Given the description of an element on the screen output the (x, y) to click on. 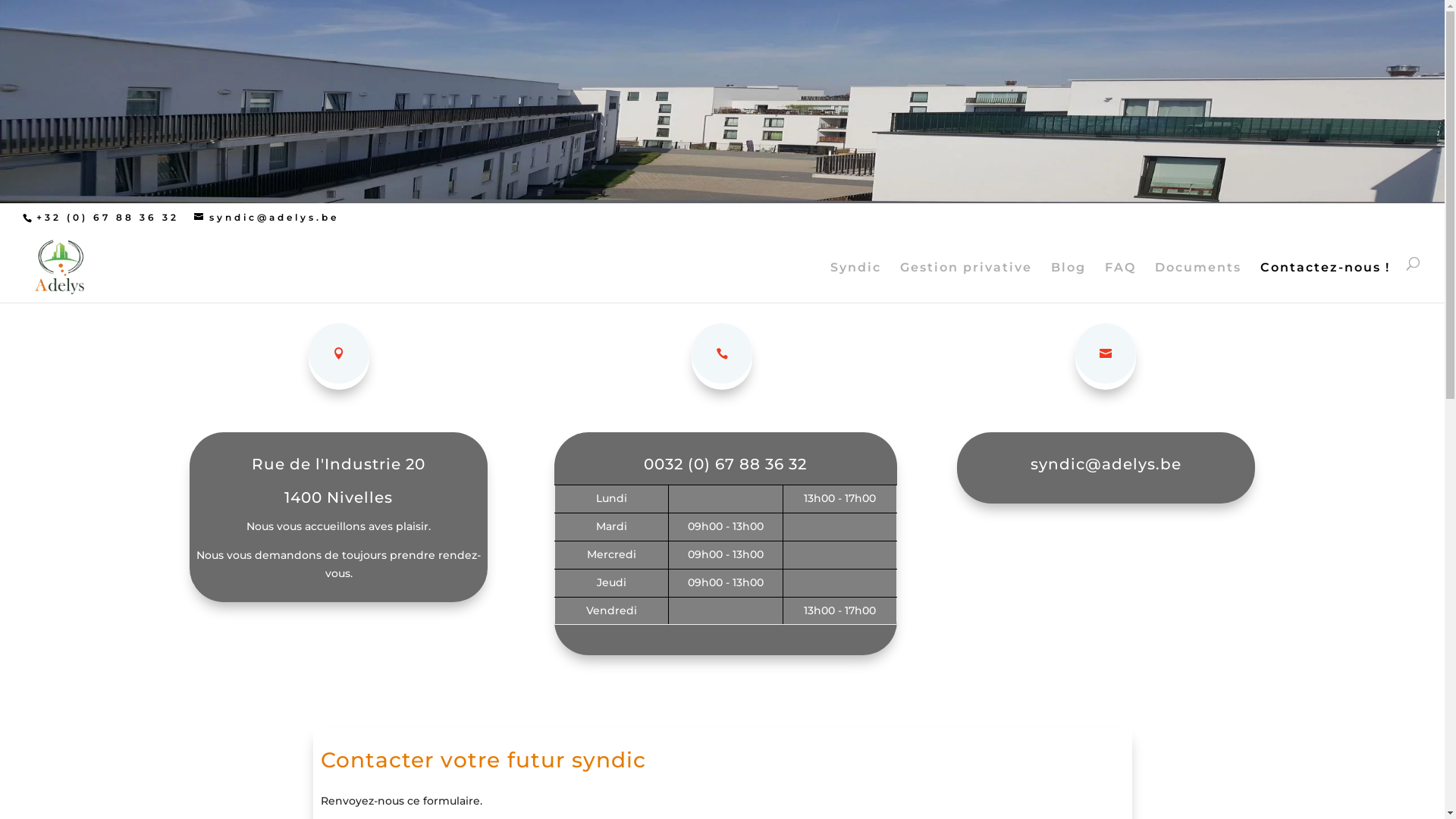
Gestion privative Element type: text (966, 279)
+32 (0) 67 88 36 32 Element type: text (105, 216)
Documents Element type: text (1197, 279)
FAQ Element type: text (1119, 279)
syndic@adelys.be Element type: text (1105, 464)
Syndic Element type: text (855, 279)
syndic@adelys.be Element type: text (266, 216)
Contactez-nous ! Element type: text (1325, 279)
Blog Element type: text (1068, 279)
